Given the description of an element on the screen output the (x, y) to click on. 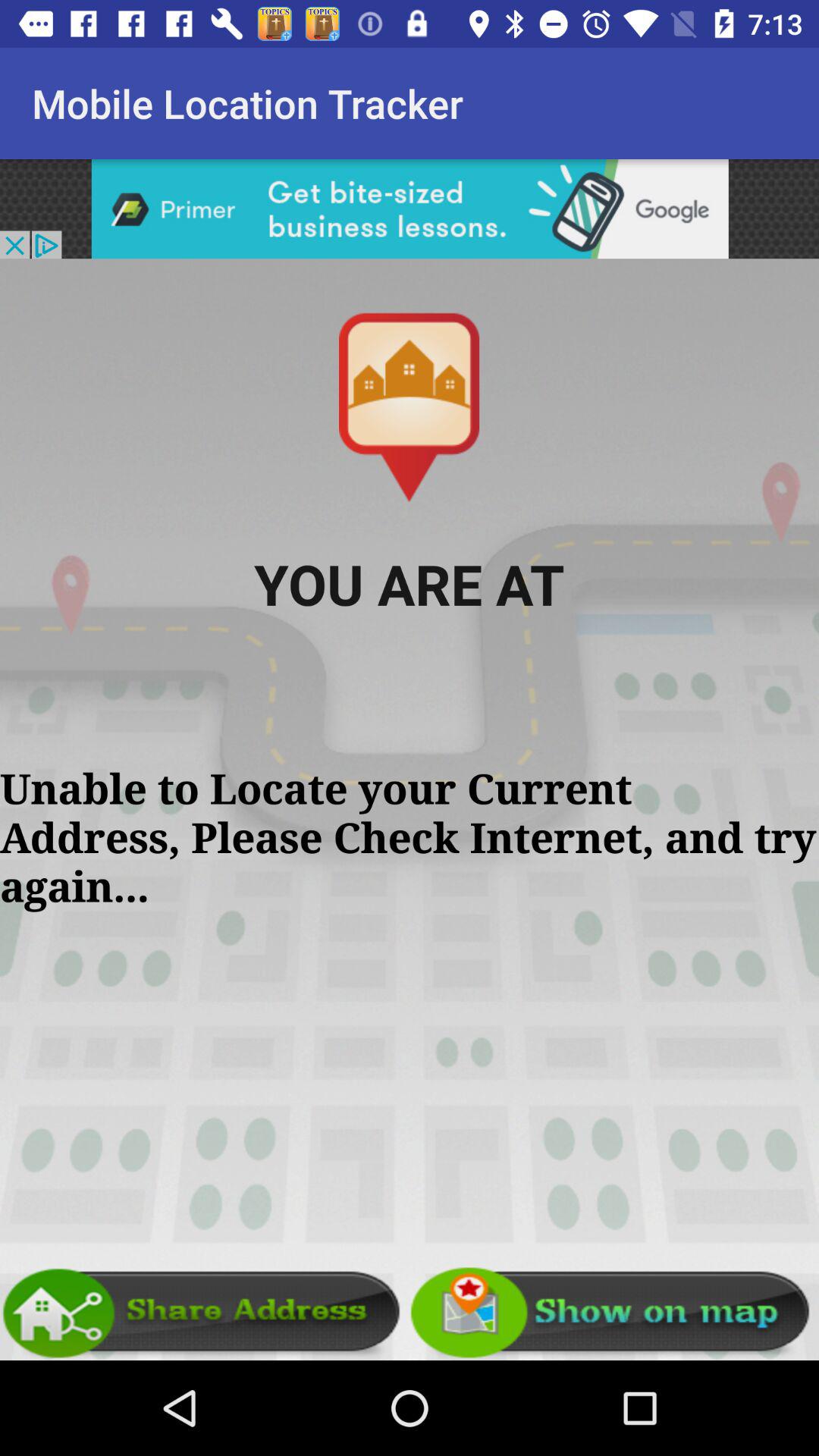
show location on map (614, 1312)
